Given the description of an element on the screen output the (x, y) to click on. 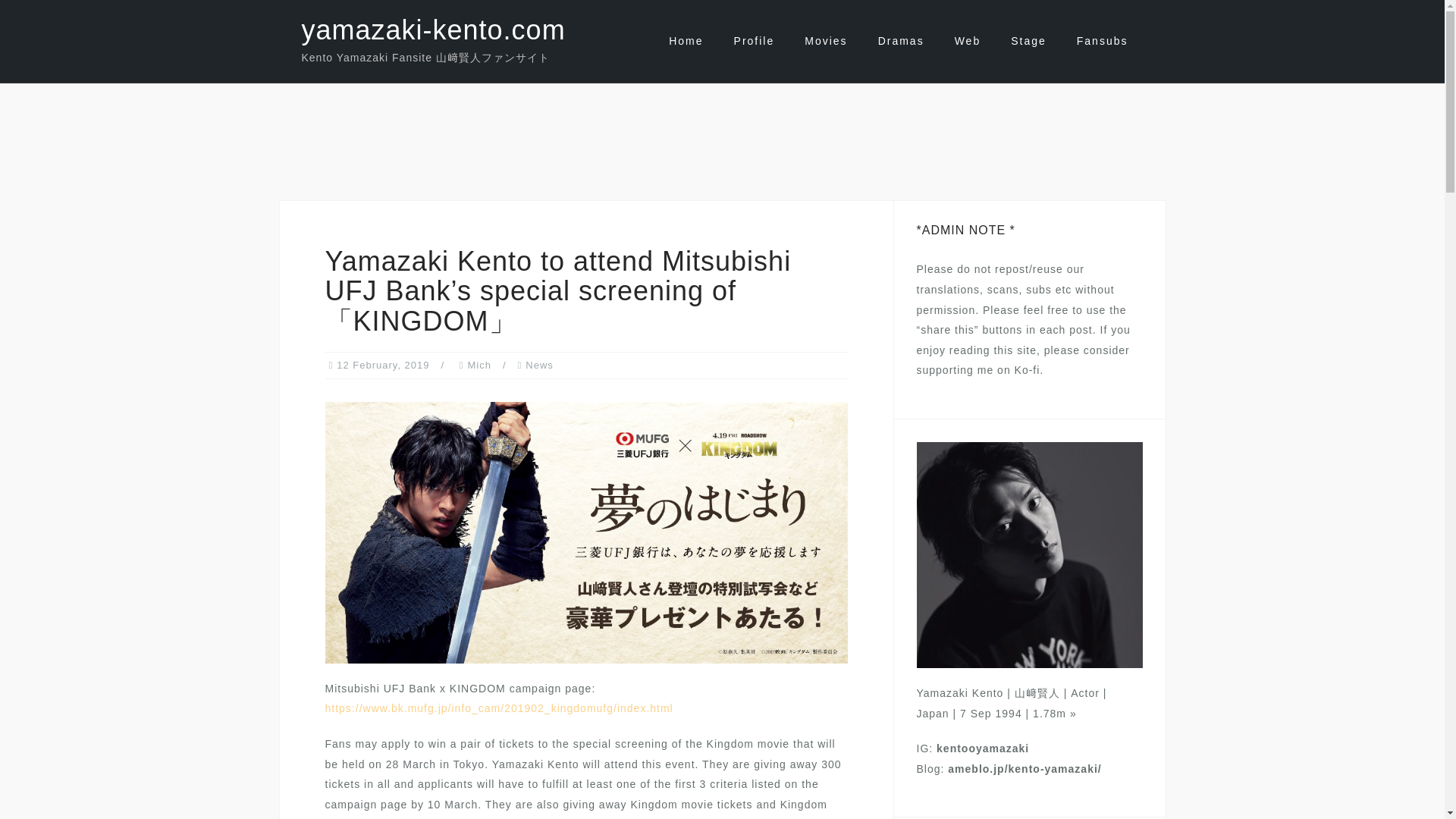
Profile (753, 41)
News (539, 365)
Stage (1028, 41)
Dramas (900, 41)
Home (685, 41)
Movies (826, 41)
Fansubs (1102, 41)
12 February, 2019 (382, 365)
Web (968, 41)
kentooyamazaki (982, 748)
Mich (479, 365)
yamazaki-kento.com (433, 29)
